Given the description of an element on the screen output the (x, y) to click on. 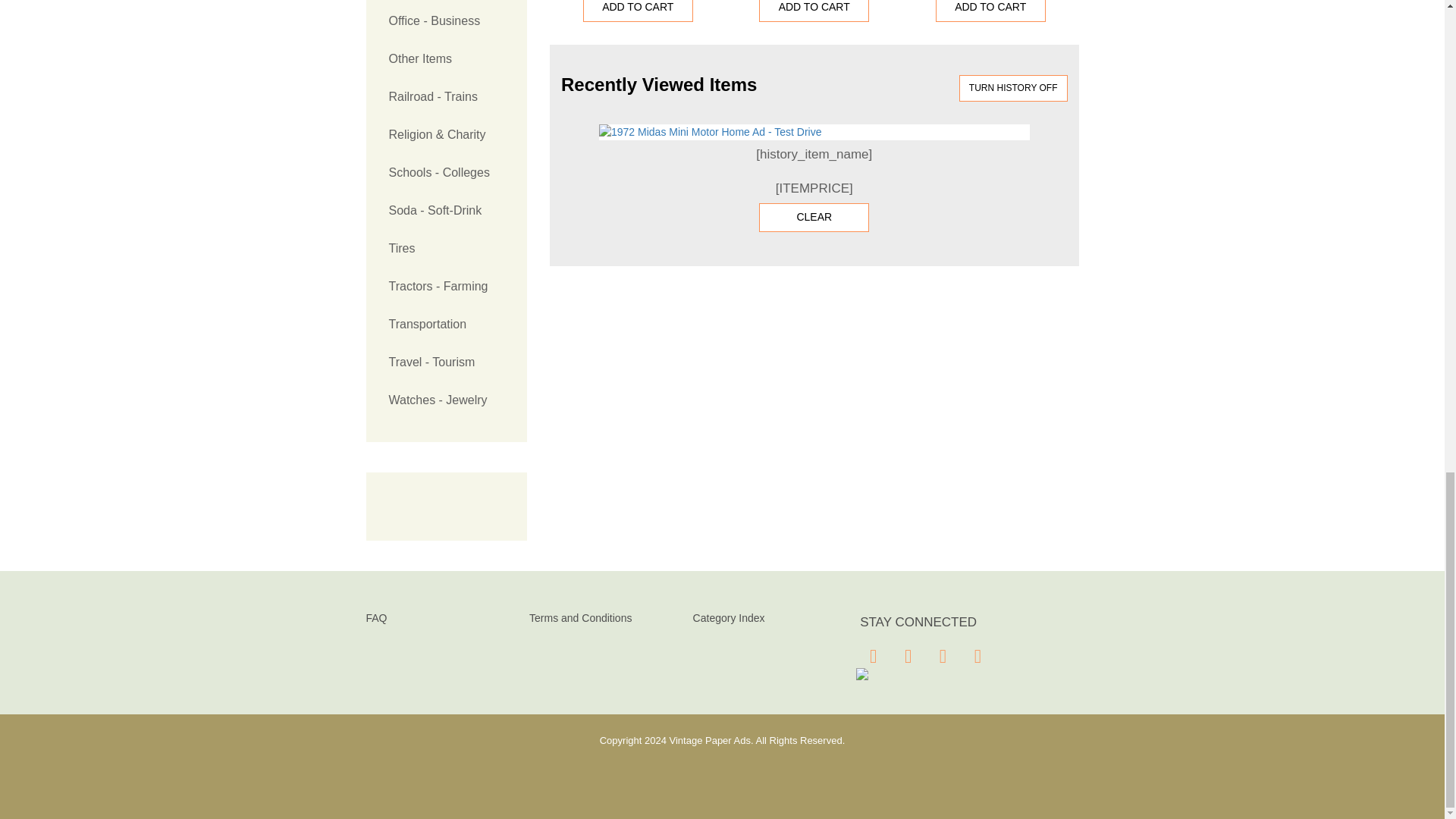
Follow Us on Twitter (906, 654)
Office - Business (445, 21)
Other Items (445, 58)
Follow Us on Pinterest (941, 654)
Like Us on Facebook (871, 654)
Follow Us on Instagram (975, 654)
